Given the description of an element on the screen output the (x, y) to click on. 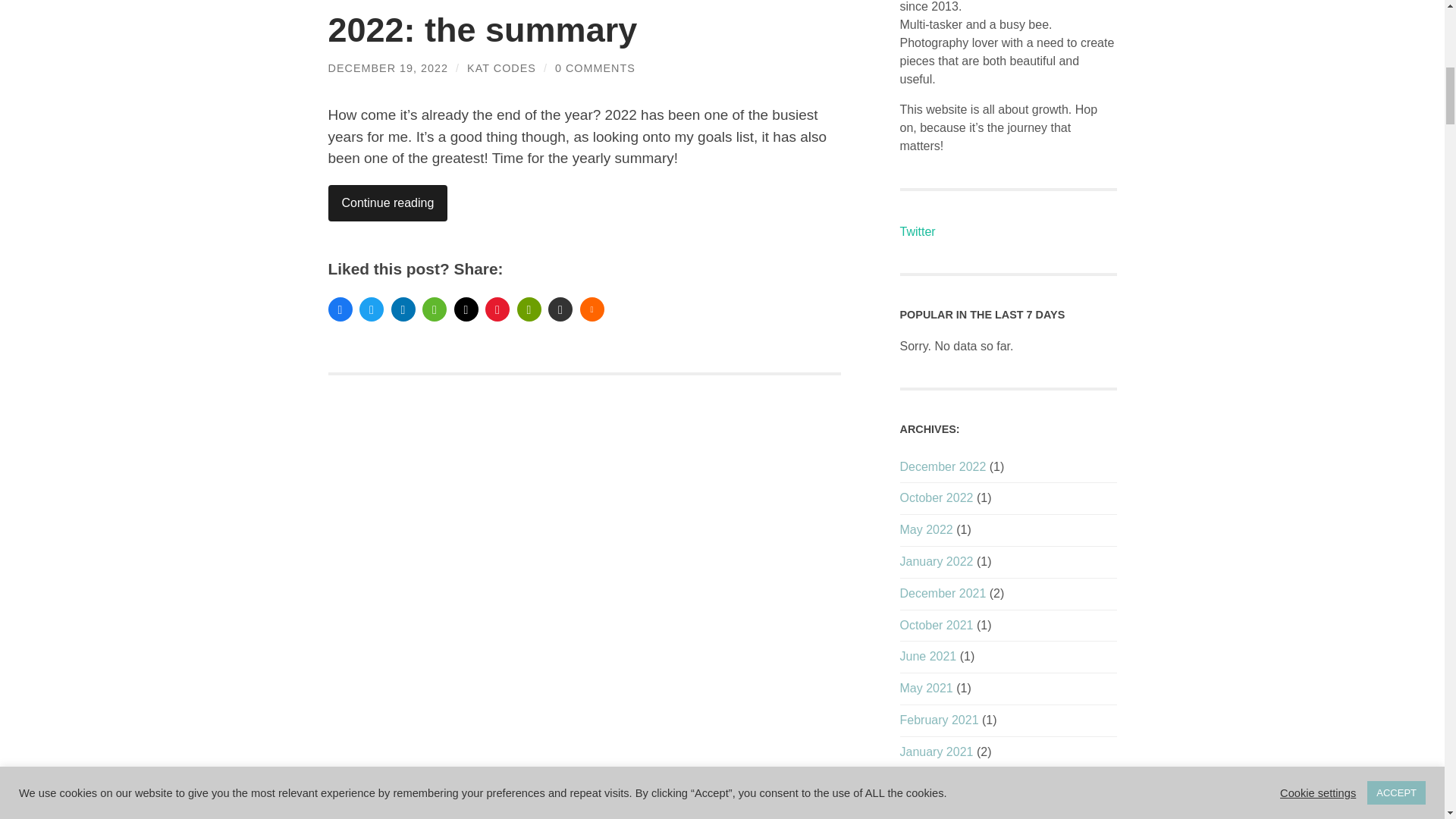
Continue reading (386, 203)
Twitter (371, 309)
2022: the summary (482, 29)
Email (464, 309)
Print (528, 309)
Short Link (560, 309)
Posts by kat codes (501, 68)
0 COMMENTS (594, 68)
DECEMBER 19, 2022 (387, 68)
Facebook (339, 309)
